Given the description of an element on the screen output the (x, y) to click on. 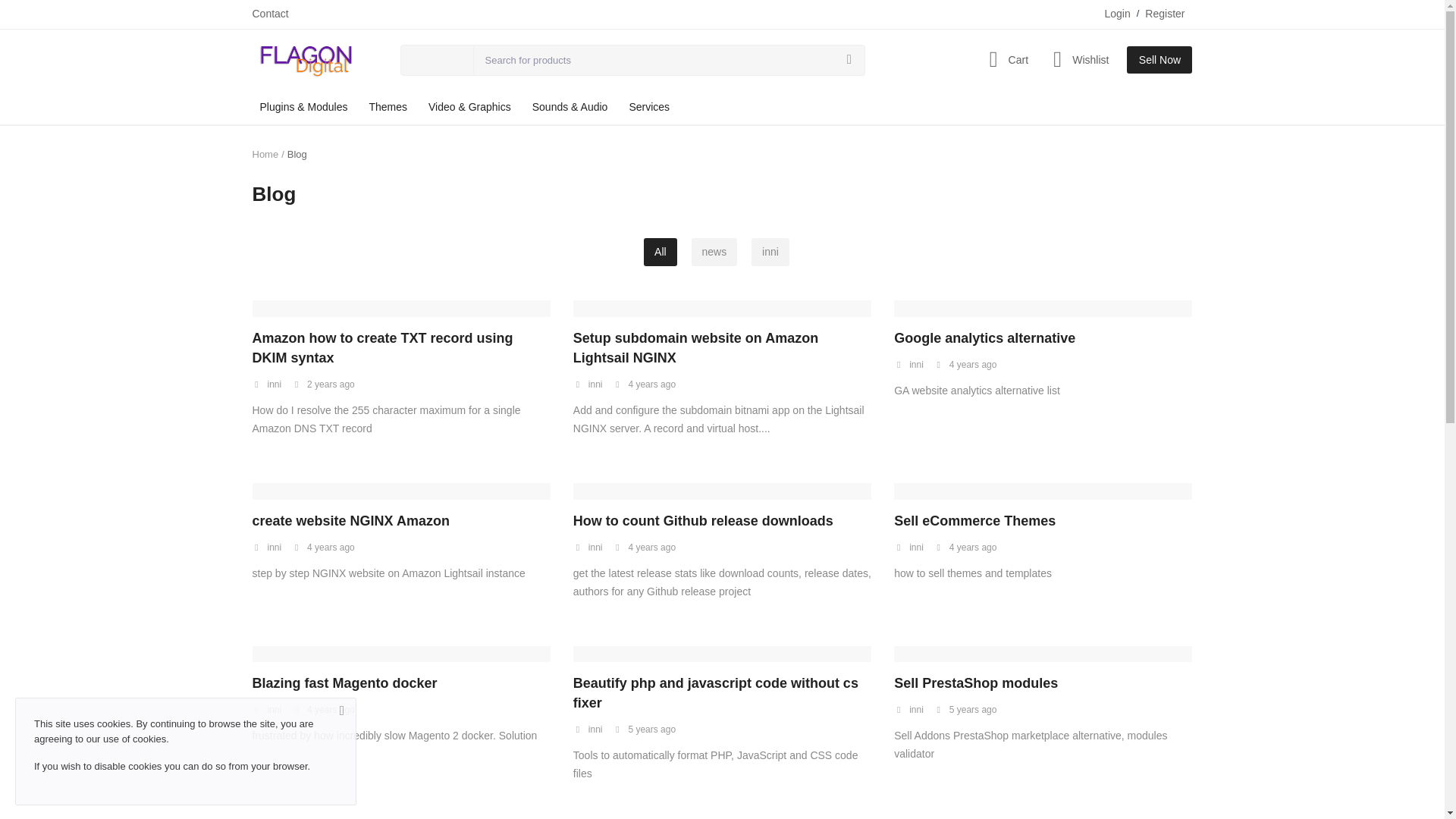
Services (649, 107)
Register (1164, 13)
Cart (1004, 59)
Contact (269, 13)
Themes (387, 107)
Sell Now (1159, 59)
Wishlist (1078, 59)
Login (1116, 13)
